Given the description of an element on the screen output the (x, y) to click on. 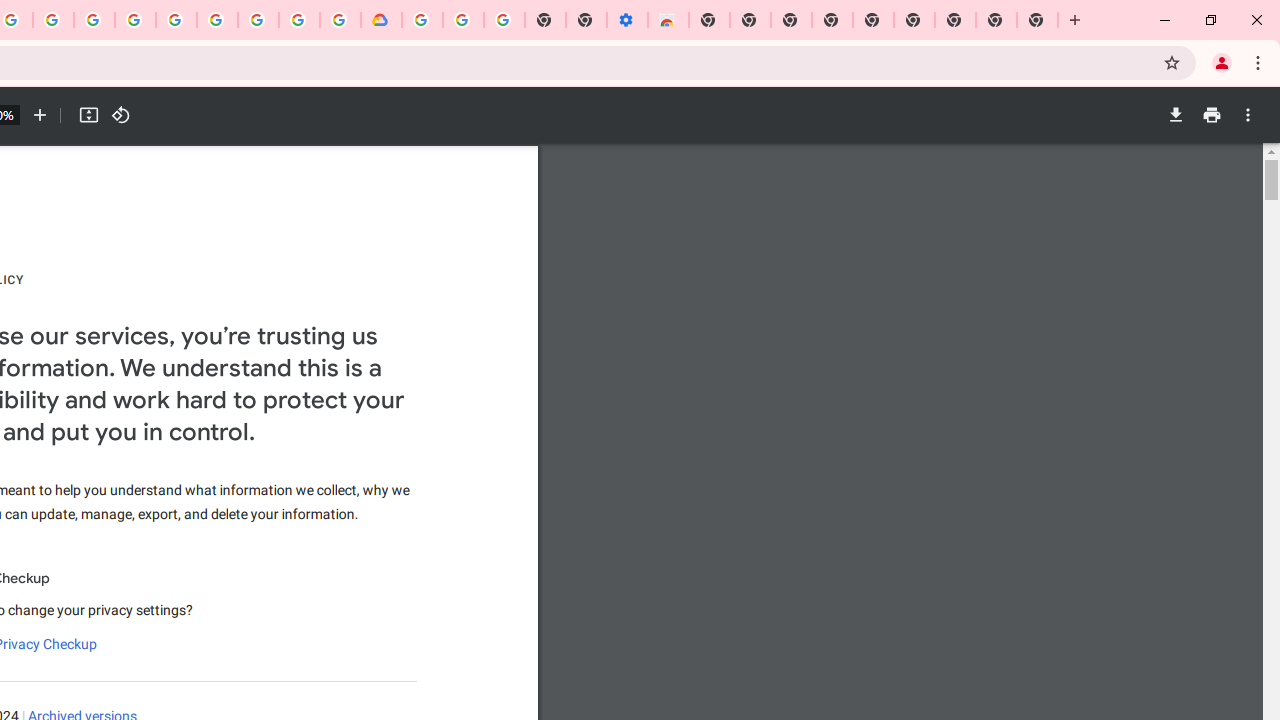
Fit to page (87, 115)
Turn cookies on or off - Computer - Google Account Help (503, 20)
Zoom in (39, 115)
Print (1211, 115)
More actions (1247, 115)
Create your Google Account (299, 20)
Ad Settings (135, 20)
Browse the Google Chrome Community - Google Chrome Community (340, 20)
Sign in - Google Accounts (176, 20)
New Tab (708, 20)
